Given the description of an element on the screen output the (x, y) to click on. 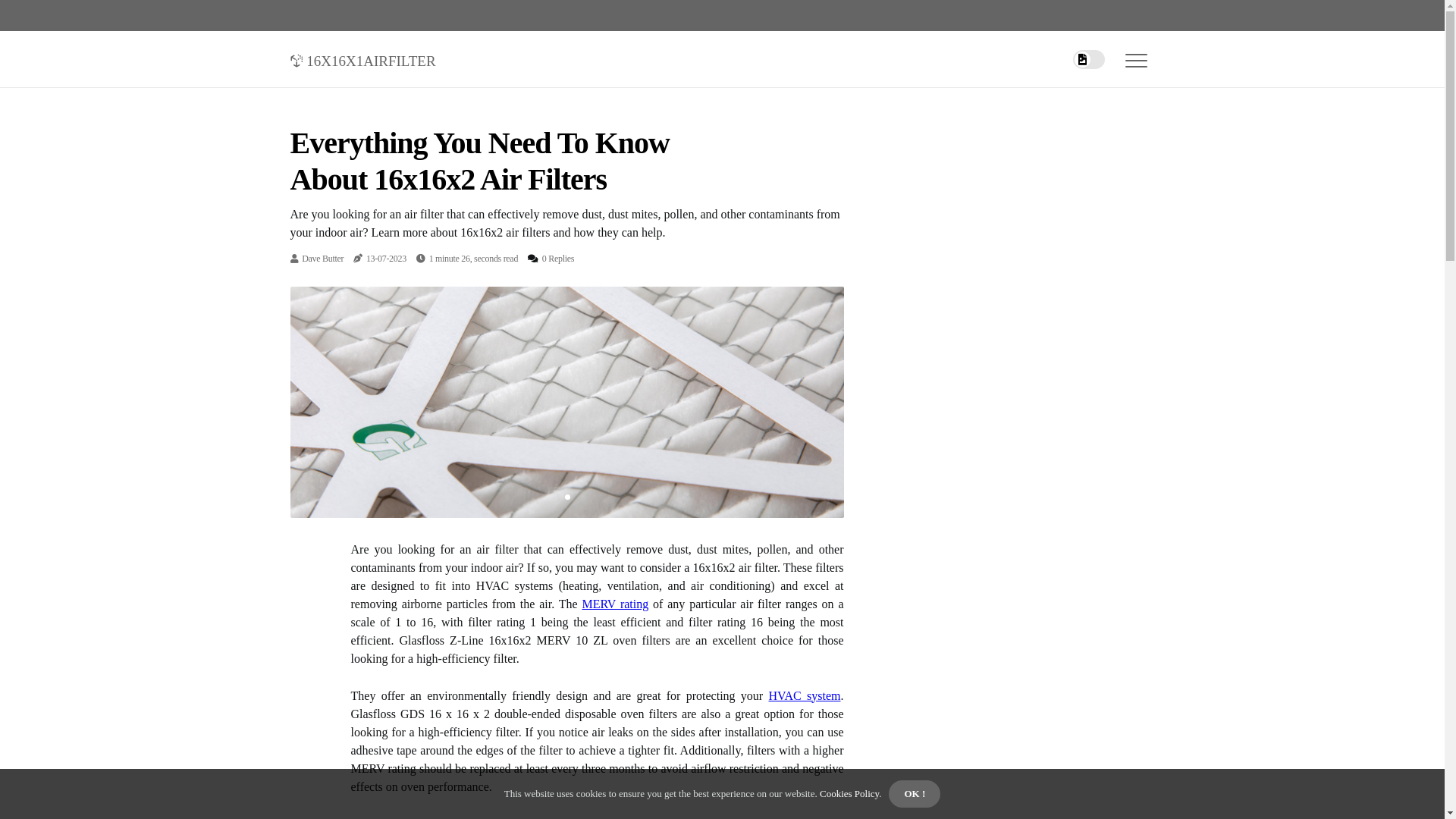
HVAC system Element type: text (804, 695)
1 Element type: text (566, 496)
Dave Butter Element type: text (322, 258)
16x16x1airfilter Element type: text (362, 57)
Cookies Policy Element type: text (848, 793)
0 Replies Element type: text (558, 258)
MERV rating Element type: text (614, 603)
